Given the description of an element on the screen output the (x, y) to click on. 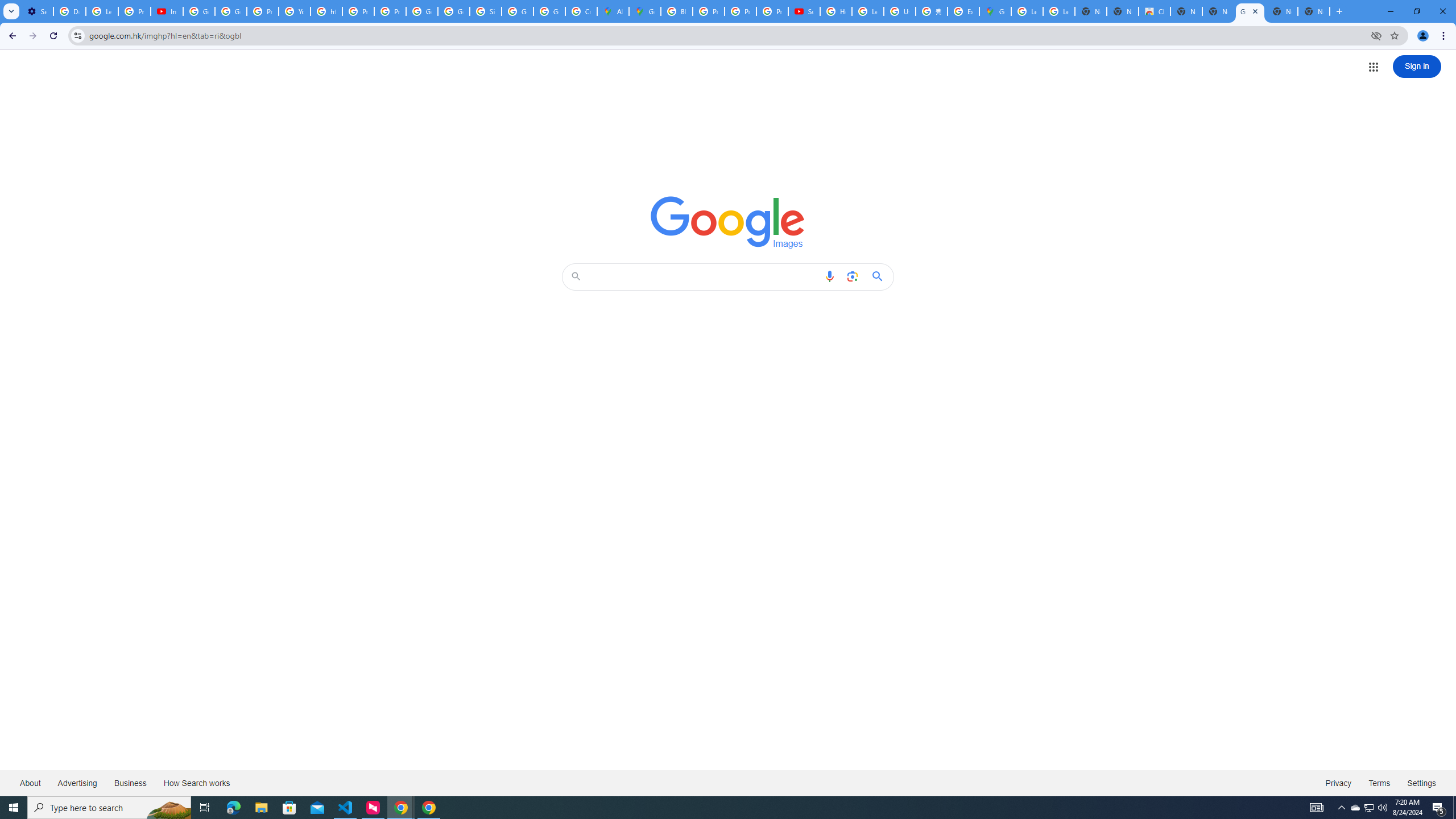
Search (703, 276)
Privacy Help Center - Policies Help (740, 11)
Settings - Customize profile (37, 11)
Google Account Help (198, 11)
Search by voice (829, 276)
Subscriptions - YouTube (804, 11)
Google Maps (995, 11)
Google Images (1249, 11)
